Given the description of an element on the screen output the (x, y) to click on. 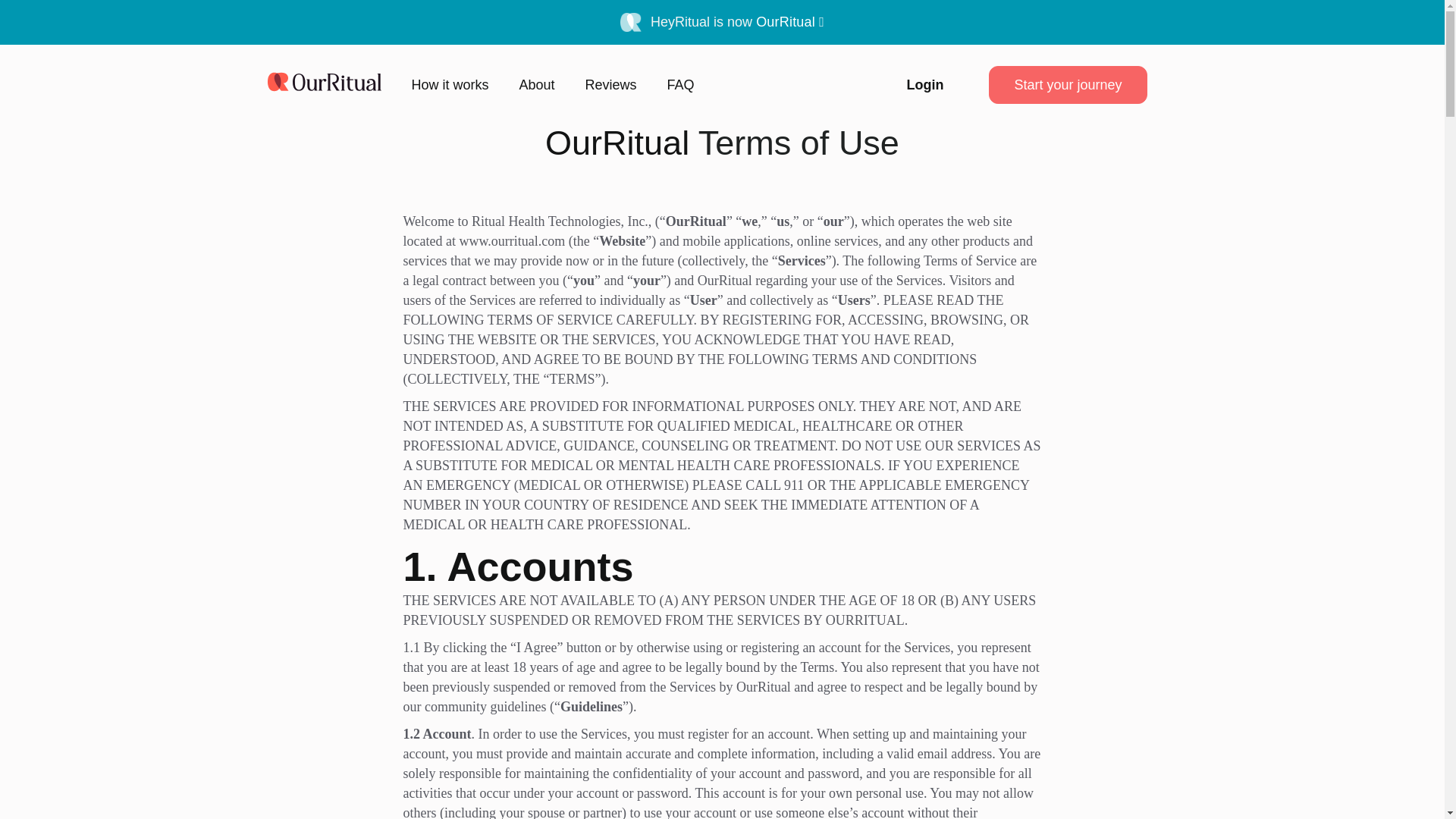
Reviews (611, 84)
Login (924, 84)
FAQ (680, 84)
How it works (448, 84)
Start your journey (1067, 85)
About (536, 84)
